Given the description of an element on the screen output the (x, y) to click on. 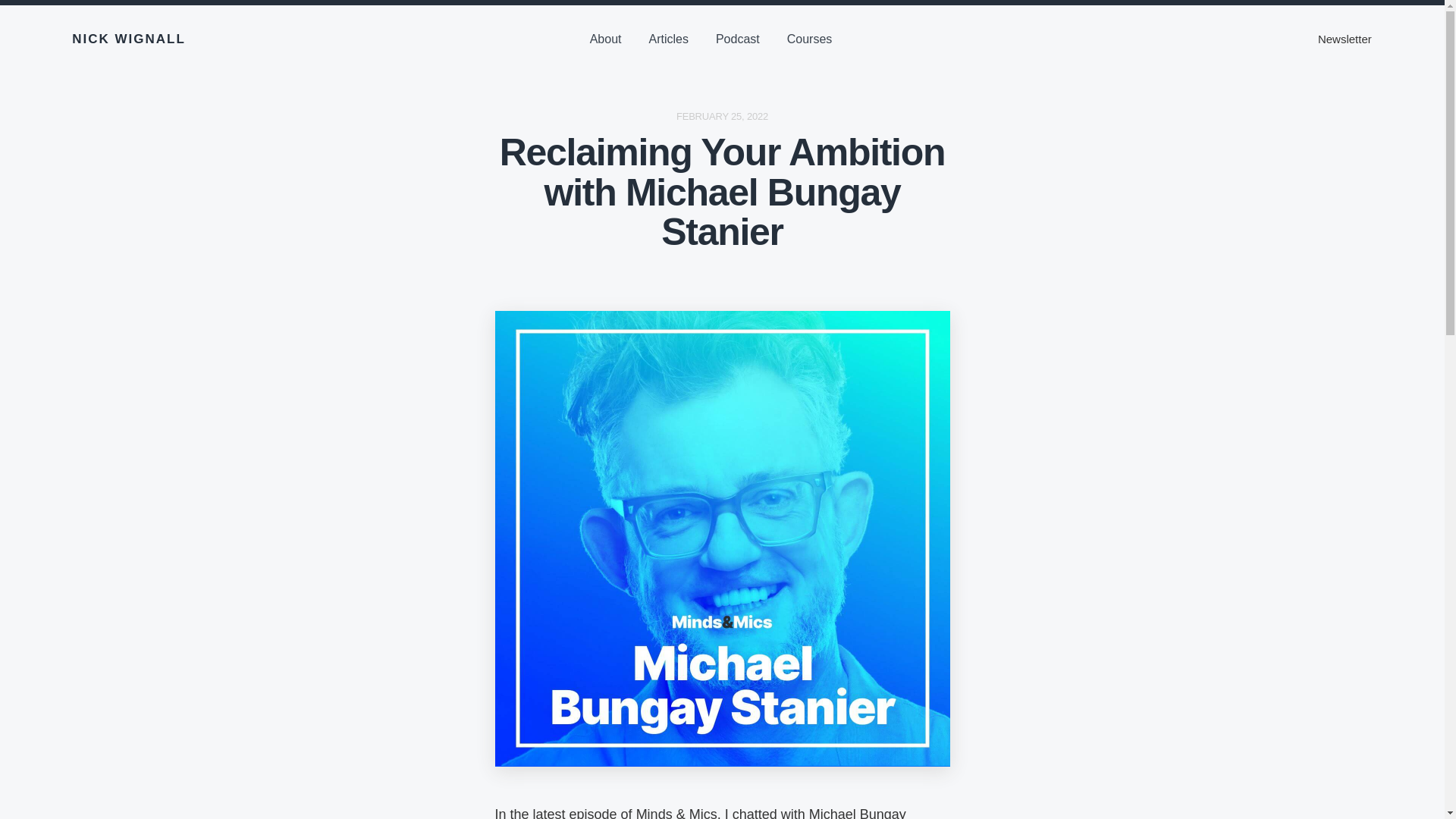
Articles (667, 39)
Podcast (722, 116)
Courses (737, 39)
Newsletter (809, 39)
About (1344, 38)
NICK WIGNALL (605, 39)
